Given the description of an element on the screen output the (x, y) to click on. 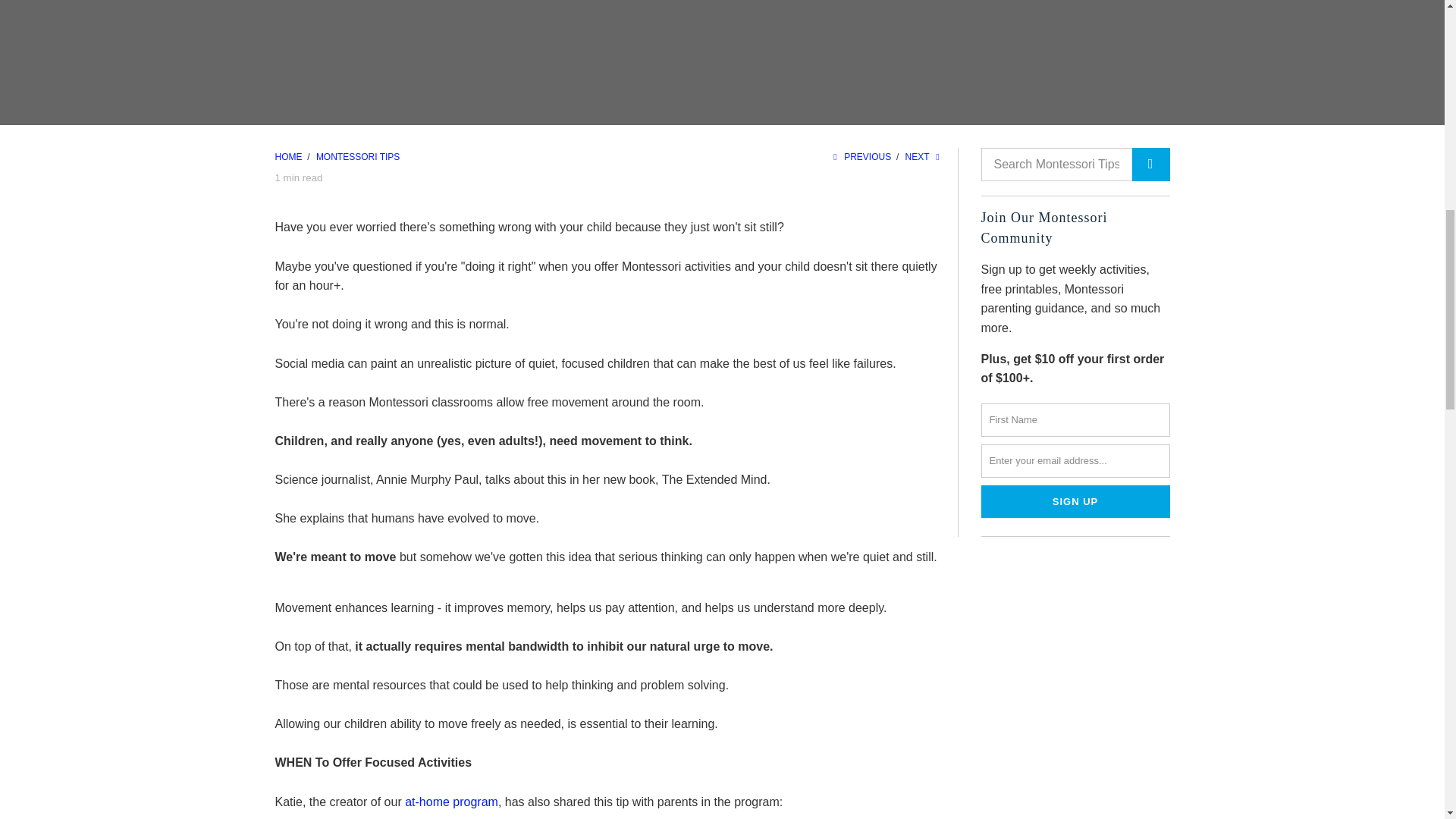
Montessori Tips (356, 156)
Sign Up (1075, 501)
The Montessori Room (289, 156)
